Given the description of an element on the screen output the (x, y) to click on. 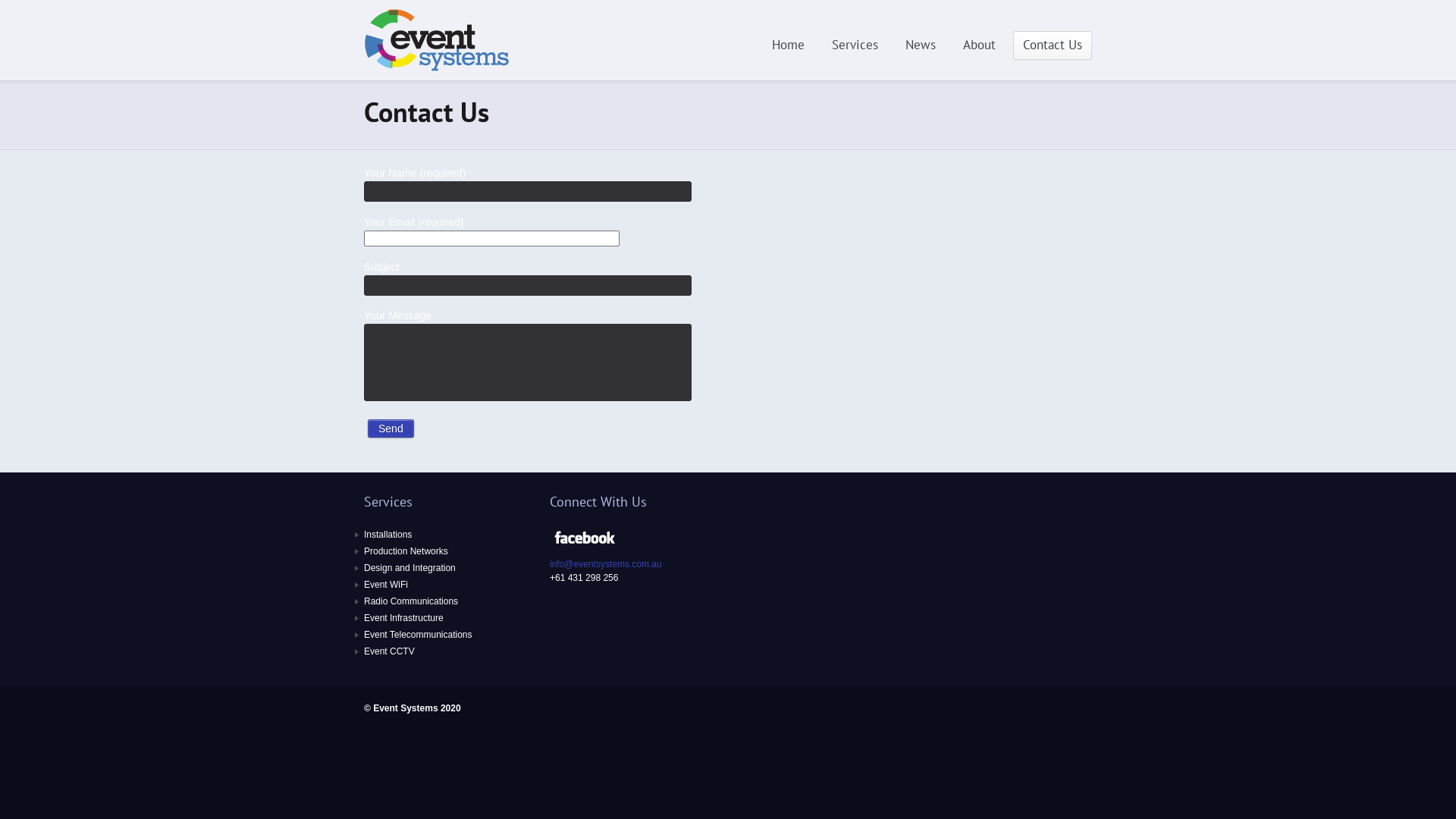
Event Telecommunications Element type: text (418, 634)
Event WiFi Element type: text (385, 584)
Radio Communications Element type: text (411, 601)
Design and Integration Element type: text (409, 567)
Contact Us Element type: text (1052, 45)
News Element type: text (920, 45)
About Element type: text (979, 45)
Production Networks Element type: text (406, 551)
Services Element type: text (855, 45)
Home Element type: text (788, 45)
info@eventsystems.com.au Element type: text (605, 563)
Installations Element type: text (387, 534)
ICT services for Events and Entertainment Industry Element type: hover (439, 70)
Send Element type: text (390, 428)
Event Infrastructure Element type: text (403, 617)
Event CCTV Element type: text (389, 651)
